Given the description of an element on the screen output the (x, y) to click on. 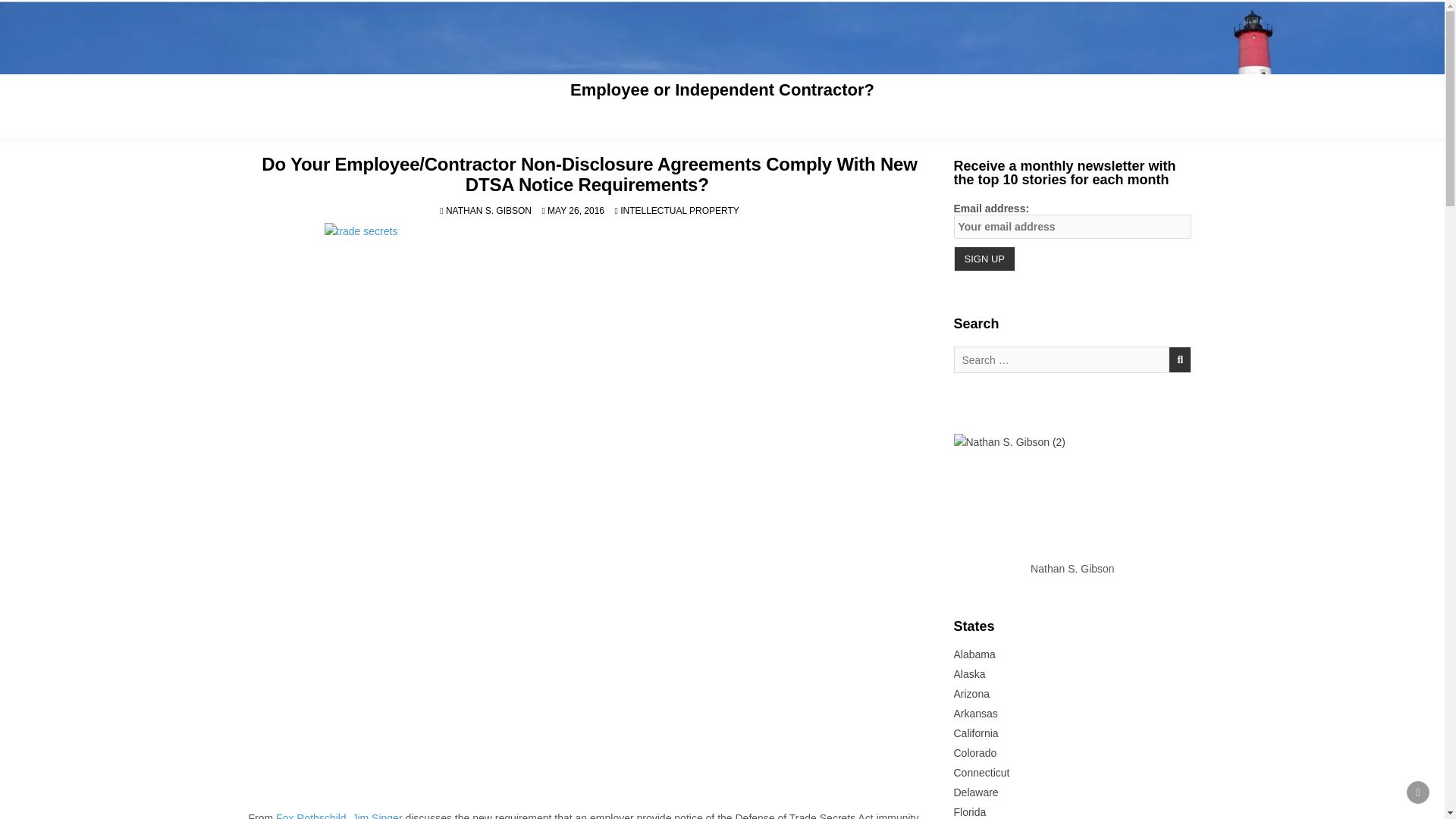
NATHAN S. GIBSON (488, 210)
SCROLL TO TOP (1417, 792)
California (975, 733)
Fox Rothschild (311, 815)
Florida (970, 811)
Delaware (975, 792)
Alabama (974, 654)
Sign up (983, 258)
Scroll to Top (1417, 792)
Arizona (971, 693)
Jim Singer (376, 815)
Colorado (975, 752)
Sign up (983, 258)
INTELLECTUAL PROPERTY (679, 210)
Arkansas (975, 713)
